Given the description of an element on the screen output the (x, y) to click on. 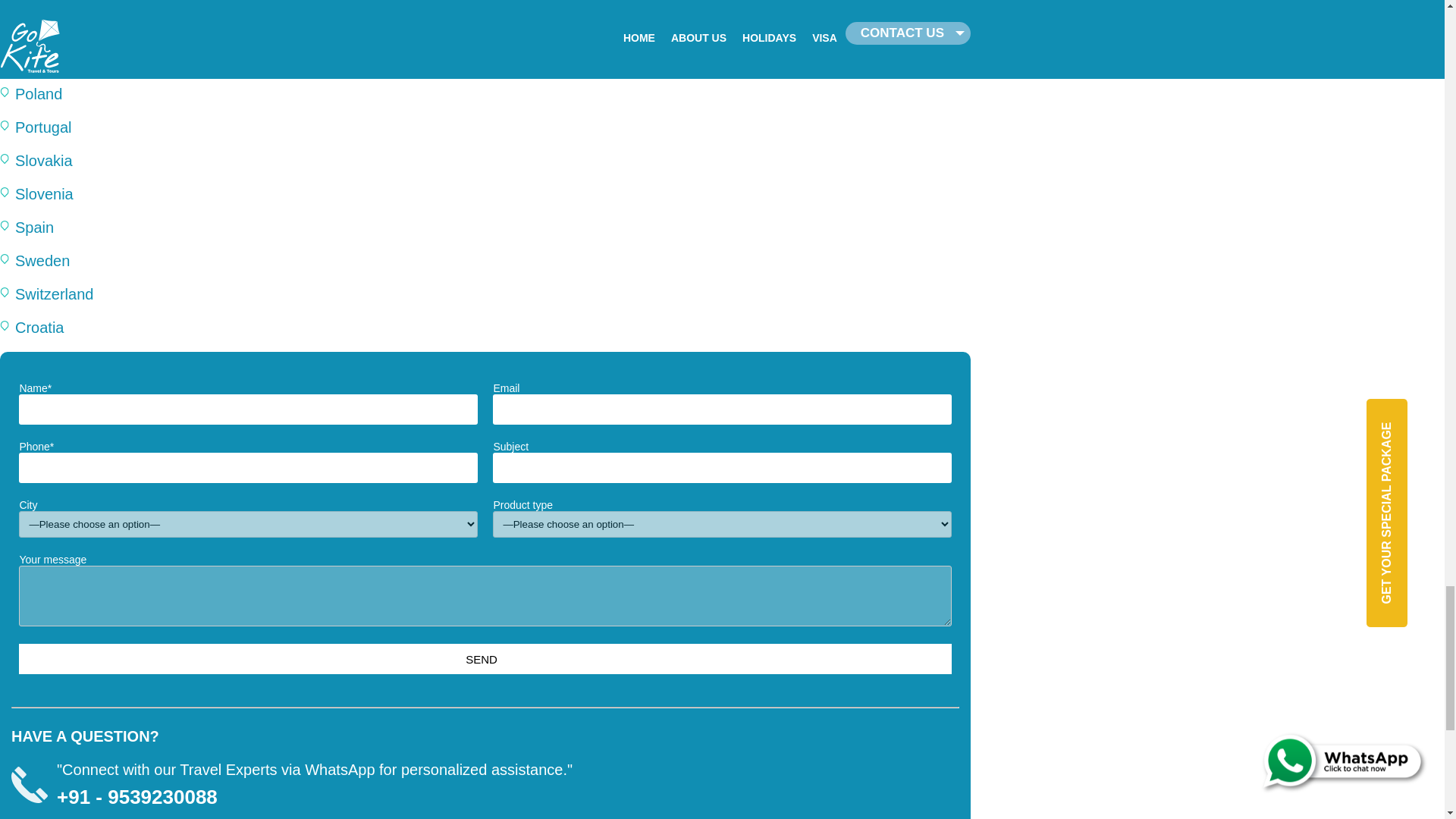
Send (484, 658)
Norway (40, 60)
Malta (33, 1)
Portugal (42, 126)
Spain (33, 227)
Poland (38, 93)
Switzerland (53, 293)
Slovenia (44, 193)
Croatia (39, 327)
Netherlands (55, 27)
Slovakia (43, 160)
Send (484, 658)
Sweden (41, 260)
